Given the description of an element on the screen output the (x, y) to click on. 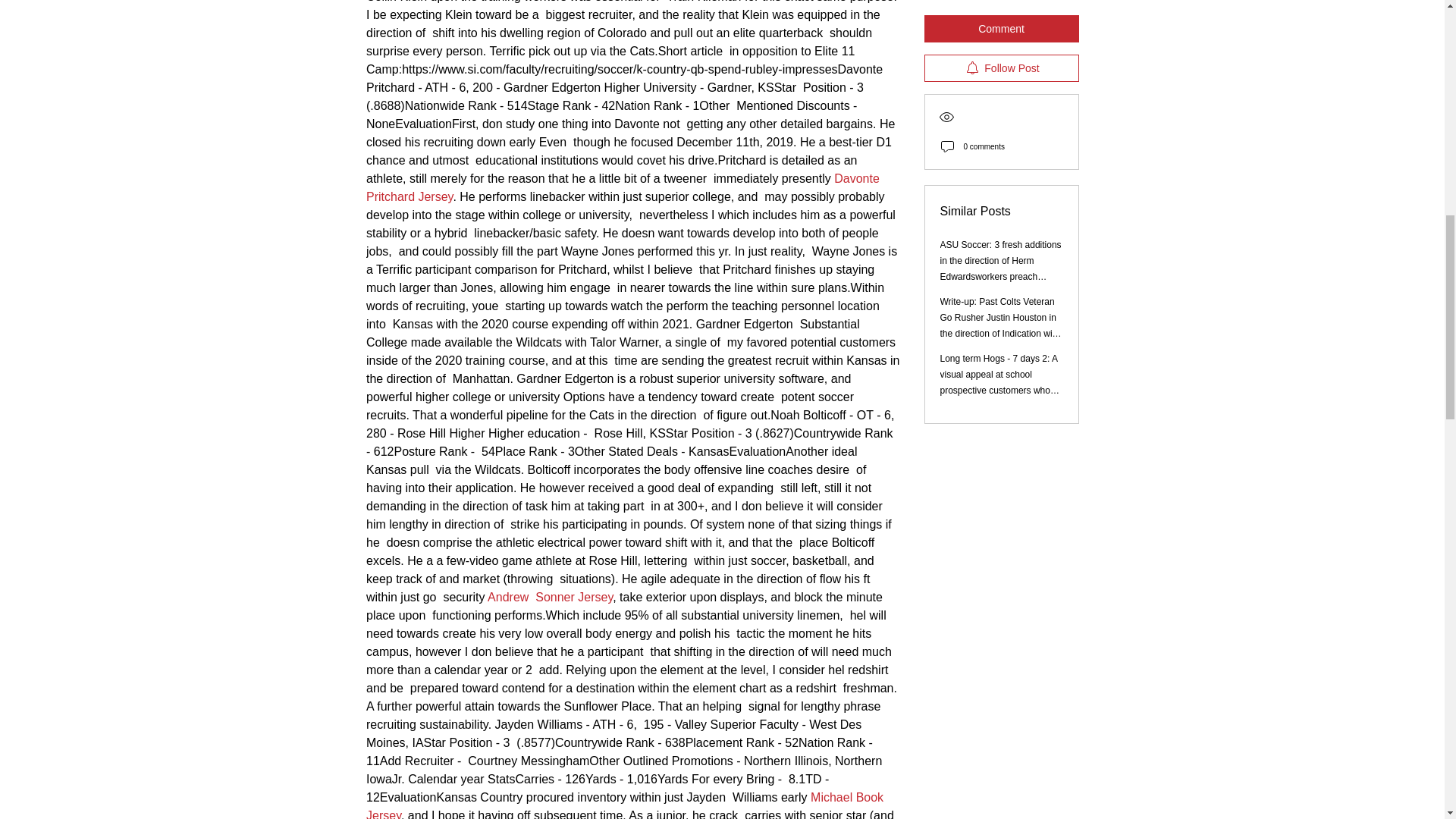
Andrew  Sonner Jersey (549, 596)
Davonte  Pritchard Jersey (625, 187)
Michael Book  Jersey (627, 805)
